Given the description of an element on the screen output the (x, y) to click on. 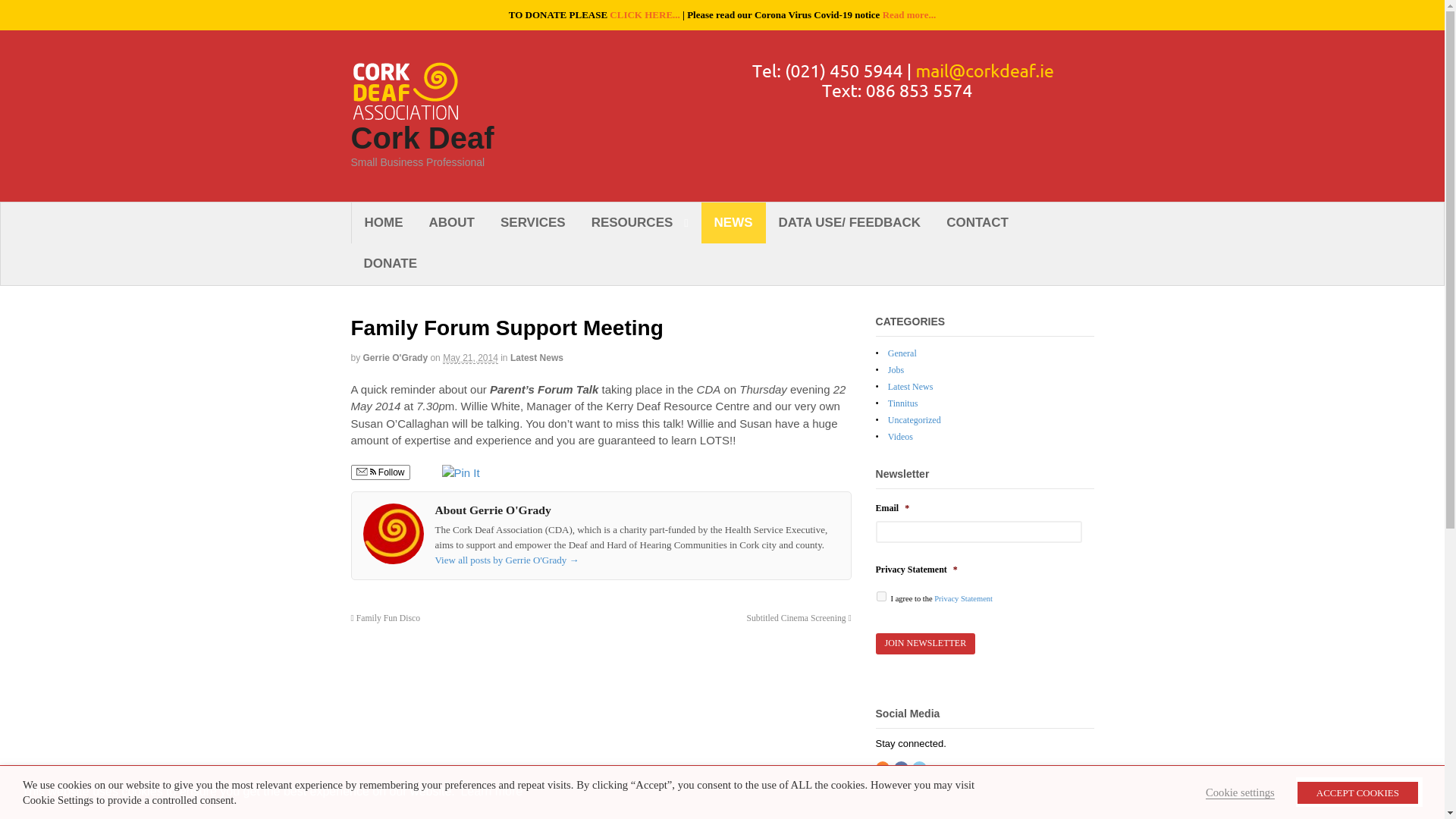
Got it! (1358, 791)
Gerrie O'Grady (395, 357)
Facebook (901, 771)
DONATE (389, 263)
Read more... (909, 14)
General (902, 353)
RESOURCES (639, 222)
Email, RSS (365, 472)
Jobs (896, 369)
Follow (379, 472)
View all items in Latest News (537, 357)
NEWS (733, 222)
Family Fun Disco (385, 618)
CONTACT (977, 222)
Tinnitus (903, 403)
